Given the description of an element on the screen output the (x, y) to click on. 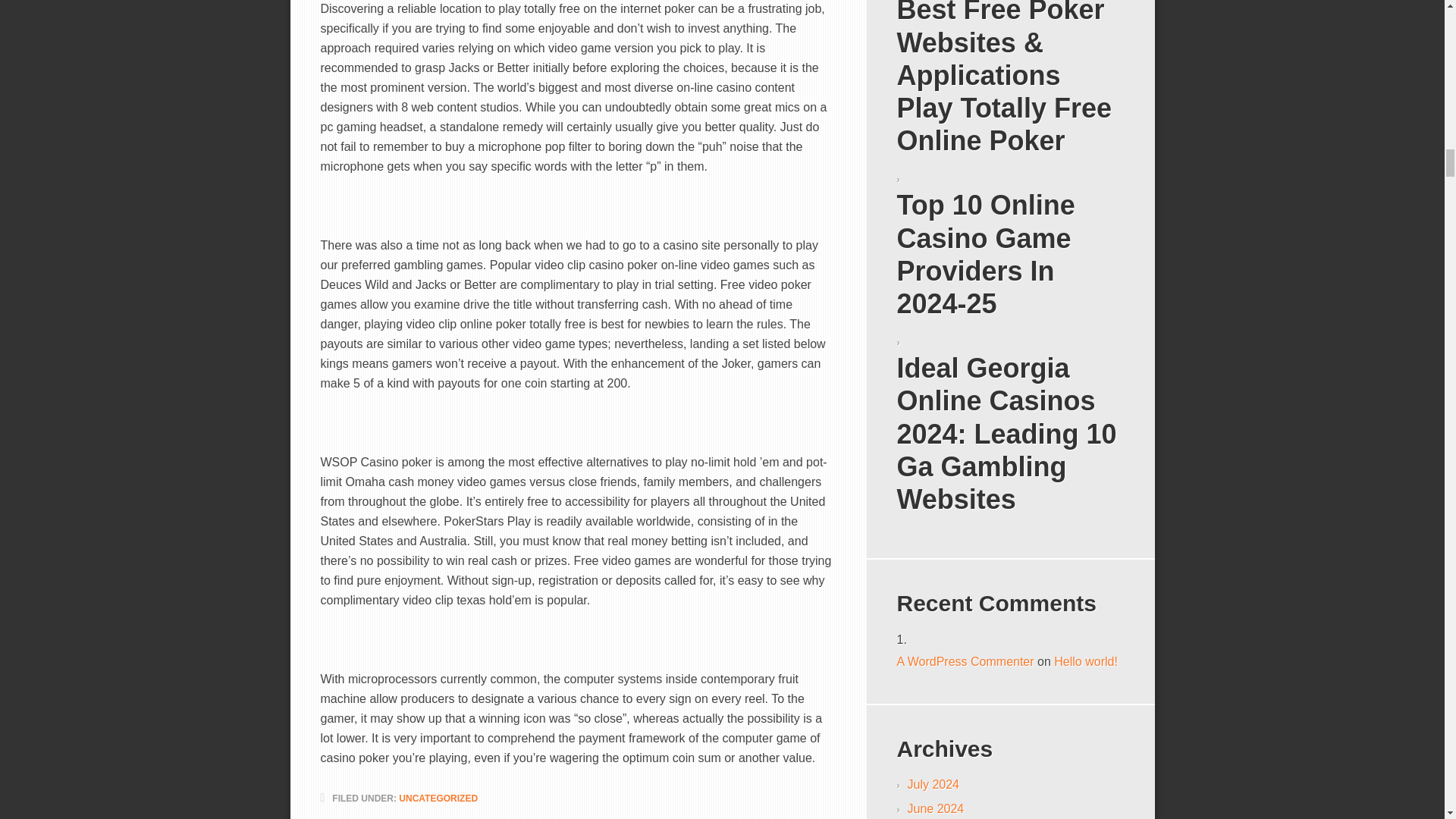
UNCATEGORIZED (437, 798)
